Given the description of an element on the screen output the (x, y) to click on. 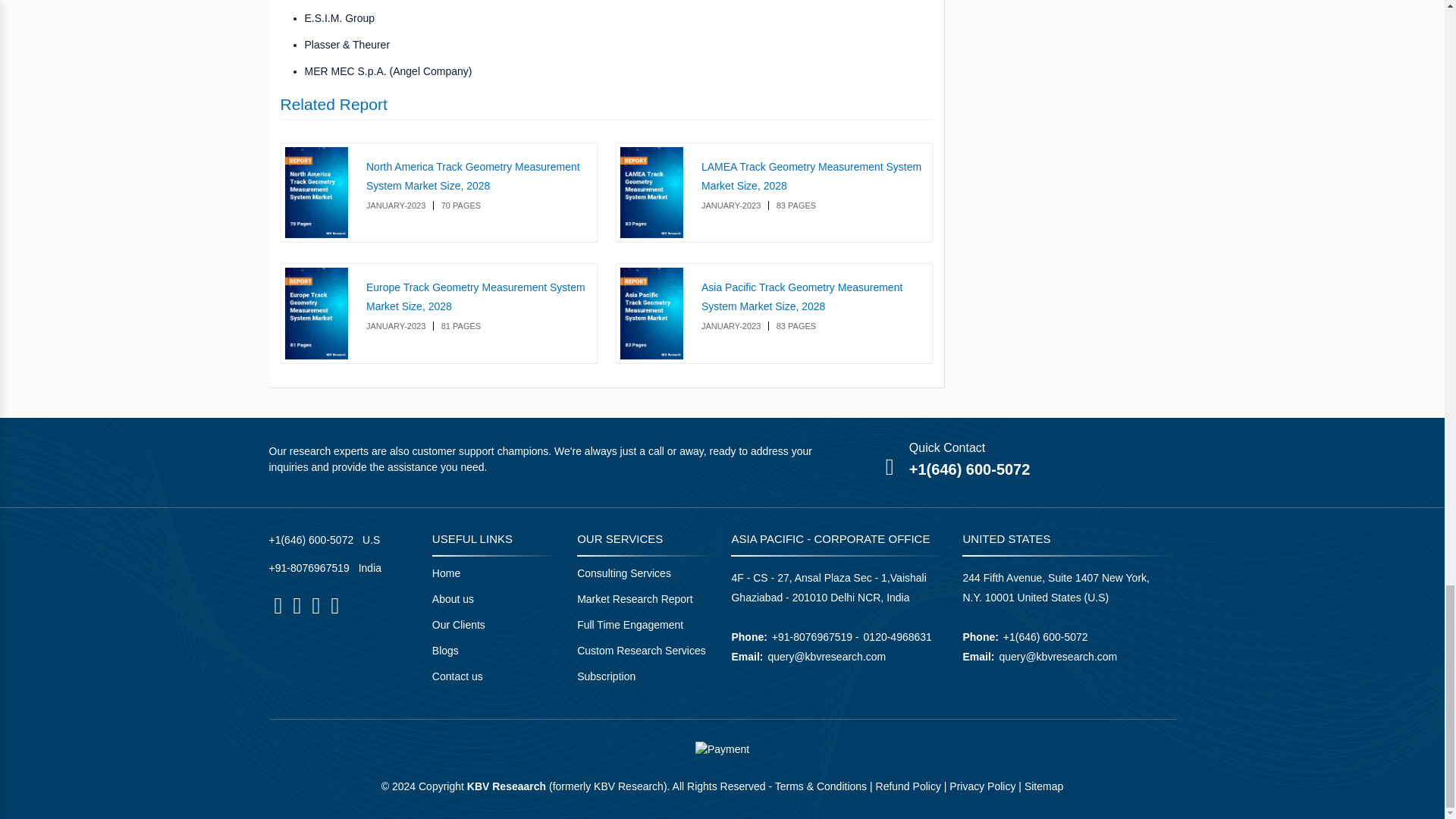
Europe Track Geometry Measurement System Market (475, 296)
Asia Pacific Track Geometry Measurement System Market (652, 313)
Linkedin KBV Research (296, 605)
Youtube KBV Research (334, 605)
Europe Track Geometry Measurement System Market (317, 313)
Twitter KBV Research (315, 605)
Our Clients (458, 624)
Asia Pacific Track Geometry Measurement System Market (801, 296)
Home (446, 573)
About us (453, 598)
North America Track Geometry Measurement System Market (472, 175)
LAMEA Track Geometry Measurement System Market (811, 175)
LAMEA Track Geometry Measurement System Market (652, 193)
Market Research Report (634, 598)
Consulting Services (623, 573)
